Given the description of an element on the screen output the (x, y) to click on. 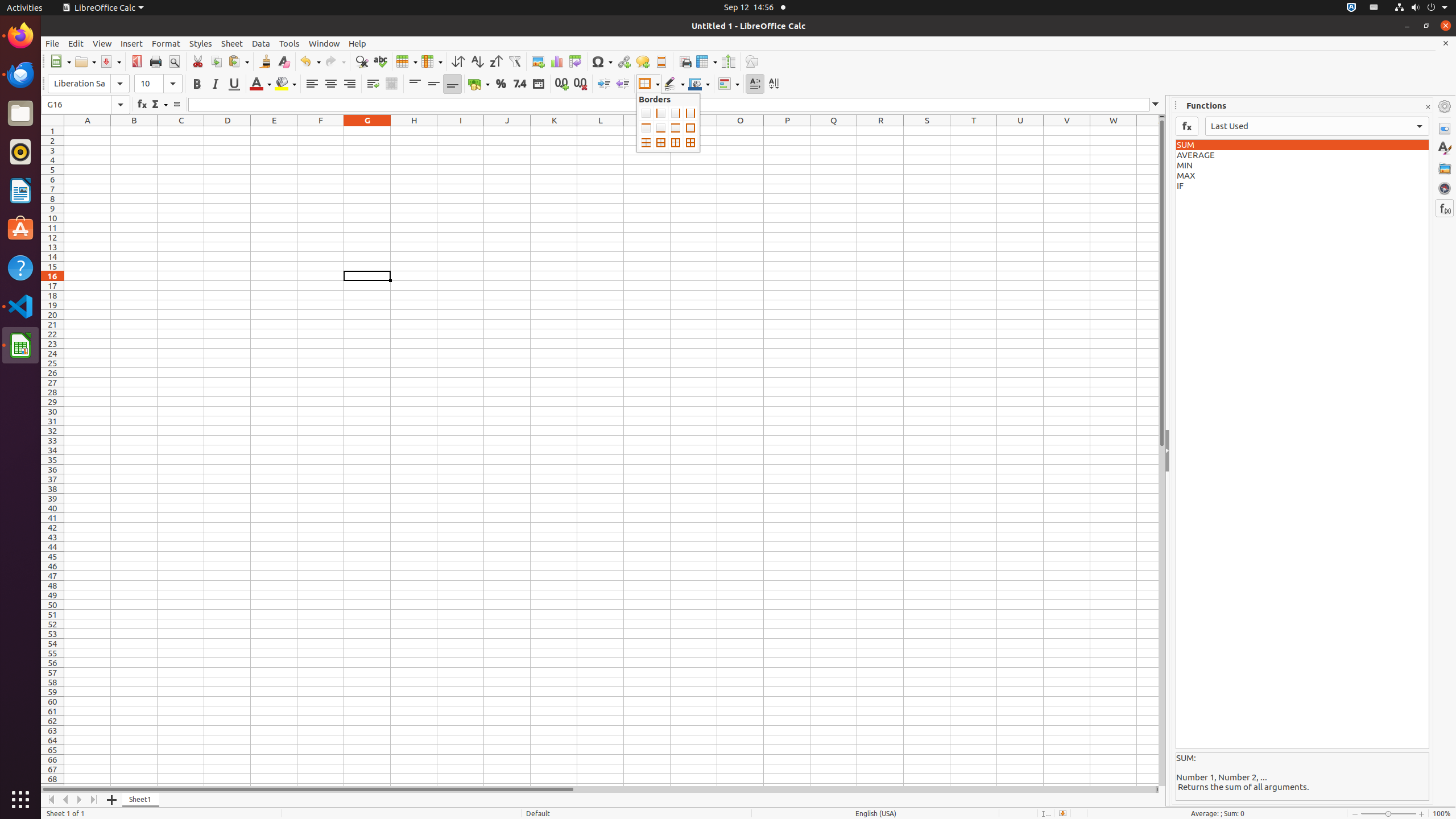
Print Preview Element type: toggle-button (173, 61)
Sheet Sheet1 Element type: table (611, 456)
MIN Element type: list-item (1302, 165)
Sheet Element type: menu (231, 43)
LibreOffice Calc Element type: push-button (20, 344)
